Given the description of an element on the screen output the (x, y) to click on. 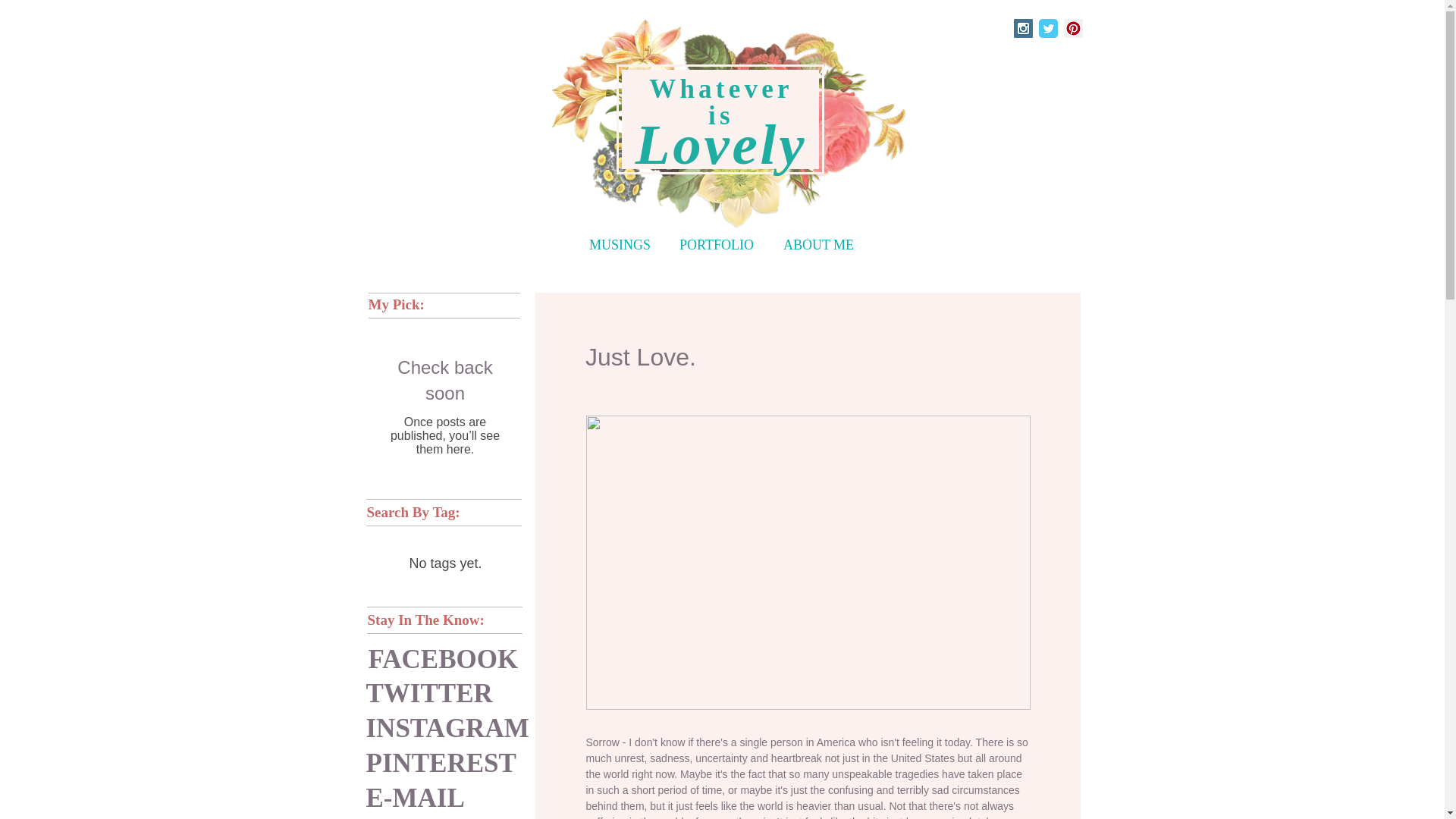
TWITTER (428, 693)
ABOUT ME (818, 244)
INSTAGRAM (446, 728)
PORTFOLIO (715, 244)
PINTEREST (440, 762)
FACEBOOK (443, 659)
E-MAIL (430, 798)
MUSINGS (619, 244)
